Given the description of an element on the screen output the (x, y) to click on. 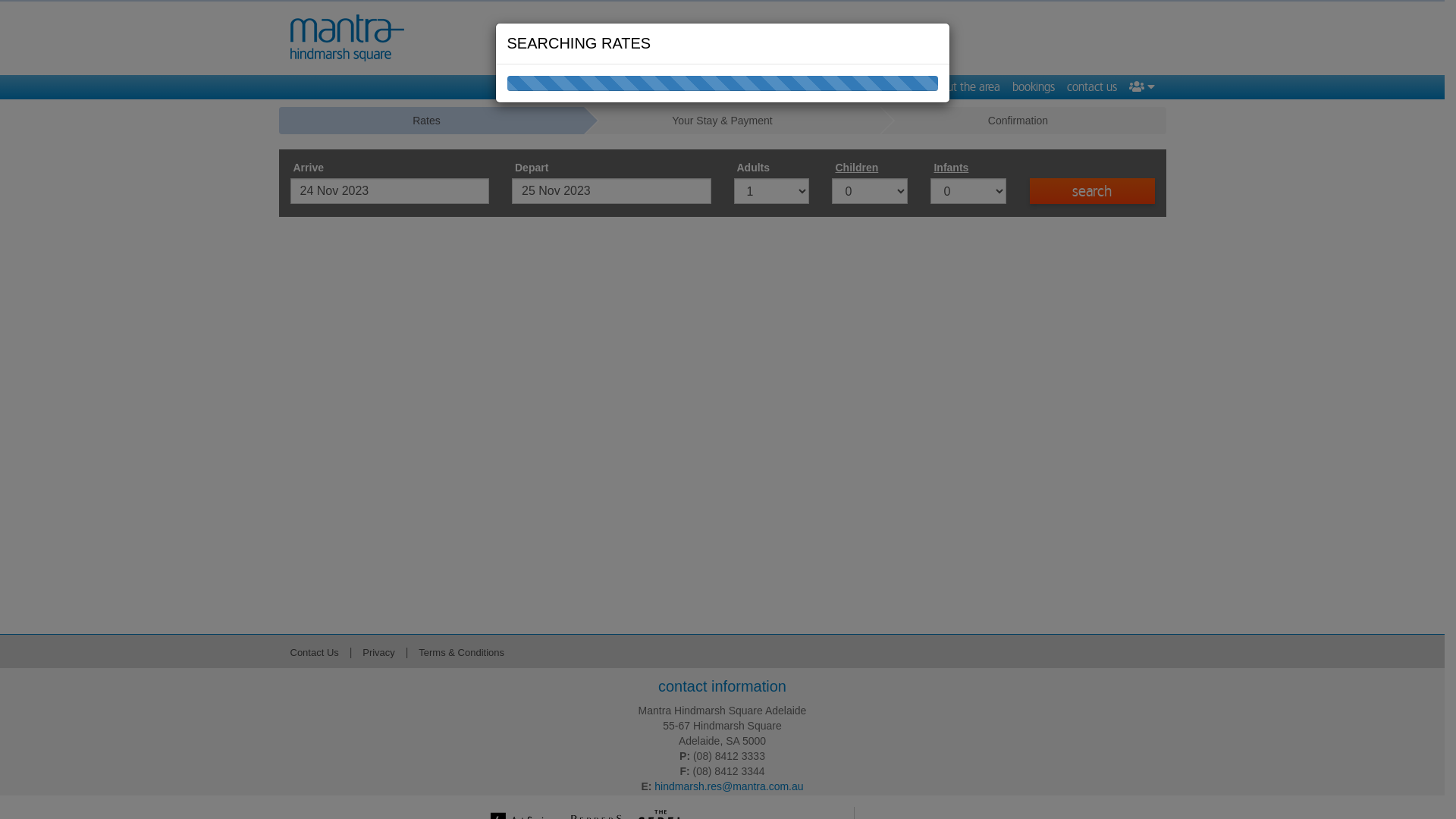
overview Element type: text (718, 87)
Mantra Hindmarsh Square Element type: hover (346, 37)
Search Element type: text (1091, 190)
facilities Element type: text (856, 87)
Contact Us Element type: text (313, 652)
bookings Element type: text (1032, 87)
gallery Element type: text (768, 87)
hindmarsh.res@mantra.com.au Element type: text (728, 786)
rooms Element type: text (810, 87)
about the area Element type: text (963, 87)
contact us Element type: text (1091, 87)
dining Element type: text (901, 87)
Terms & Conditions Element type: text (461, 652)
Privacy Element type: text (378, 652)
